Given the description of an element on the screen output the (x, y) to click on. 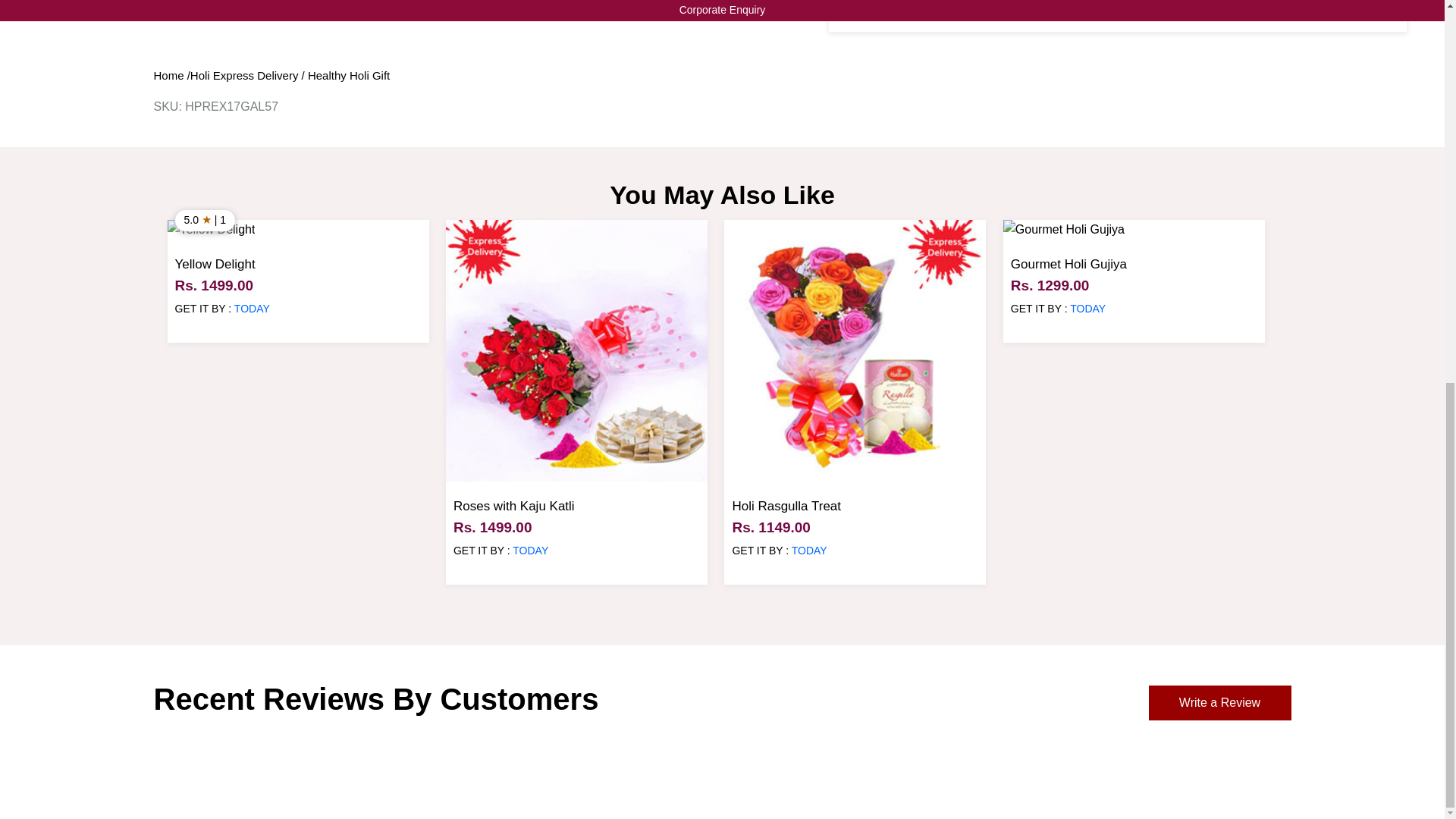
Holi Express Delivery (244, 74)
